Given the description of an element on the screen output the (x, y) to click on. 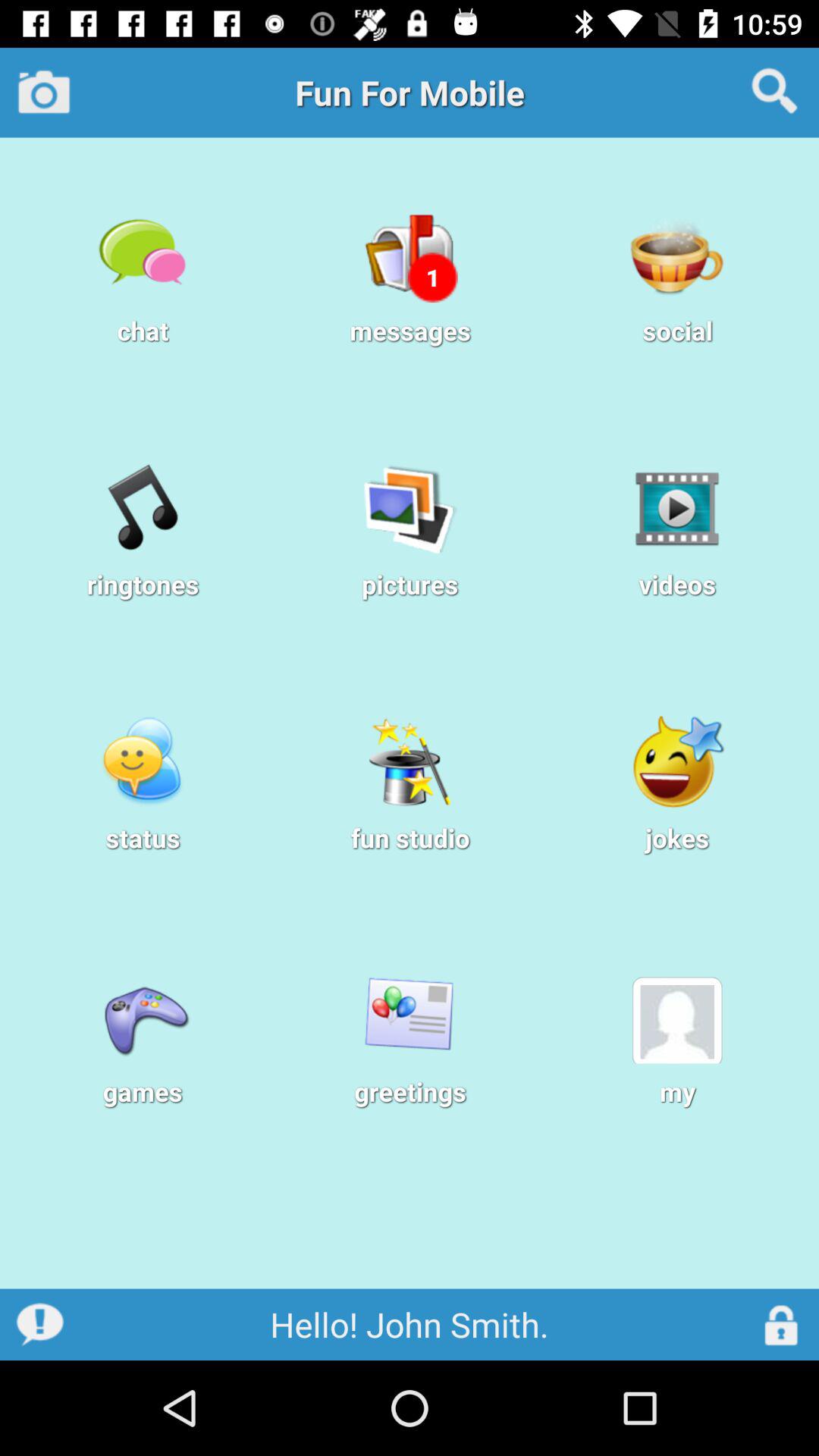
click on the icon above jokes (676, 761)
click on the icon above pictures (409, 508)
click on the icon above fun studio (409, 761)
click on the icon at the top right corner of the page (774, 91)
